Given the description of an element on the screen output the (x, y) to click on. 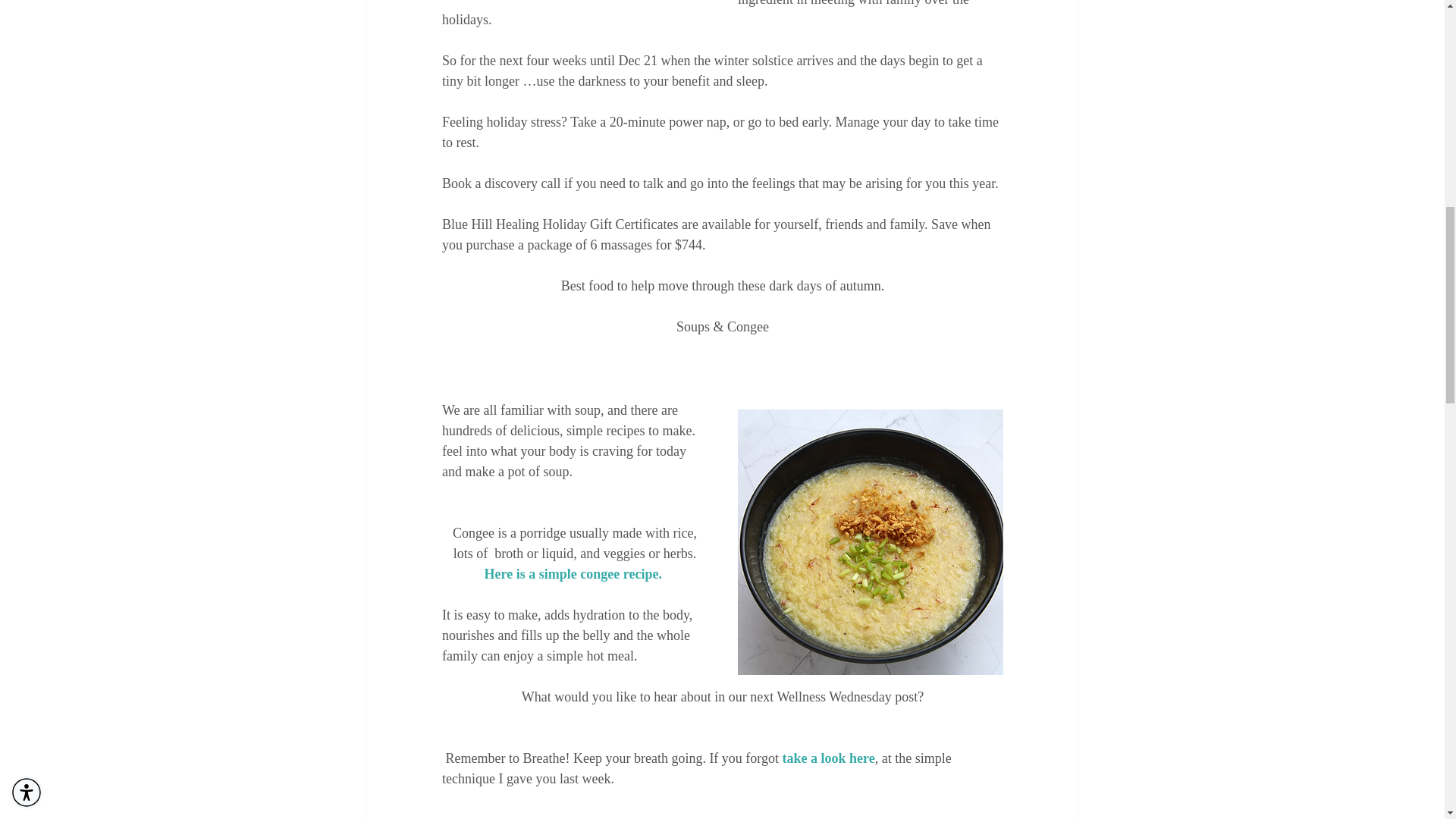
 take a look here (826, 758)
Here is a simple congee recipe. (572, 573)
